Given the description of an element on the screen output the (x, y) to click on. 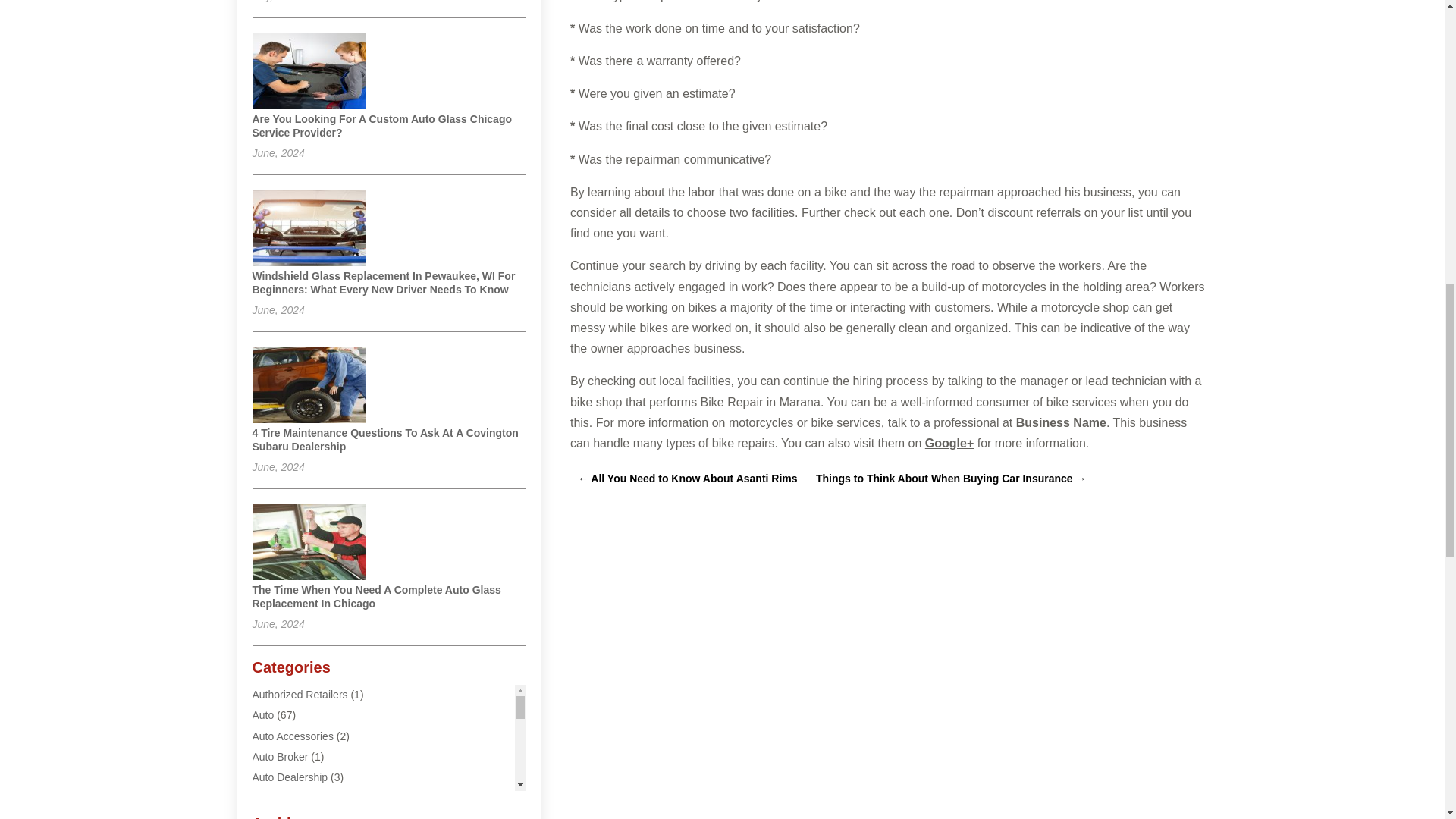
Auto Accessories (292, 736)
Auto Broker (279, 756)
Authorized Retailers (299, 694)
Auto (262, 715)
Auto Dealership (289, 776)
Auto Glass (276, 797)
